Given the description of an element on the screen output the (x, y) to click on. 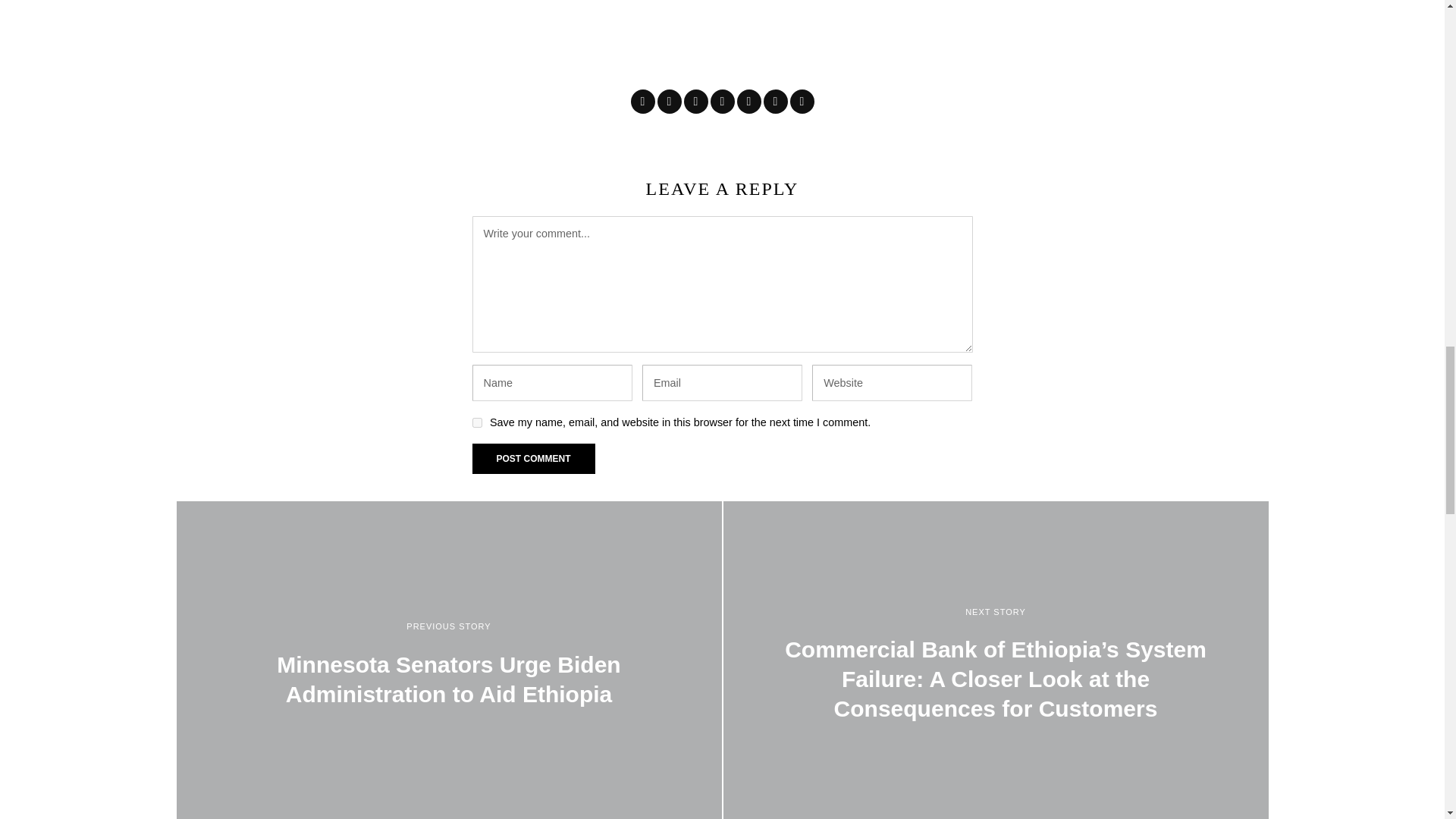
Post Comment (532, 458)
yes (476, 422)
